Given the description of an element on the screen output the (x, y) to click on. 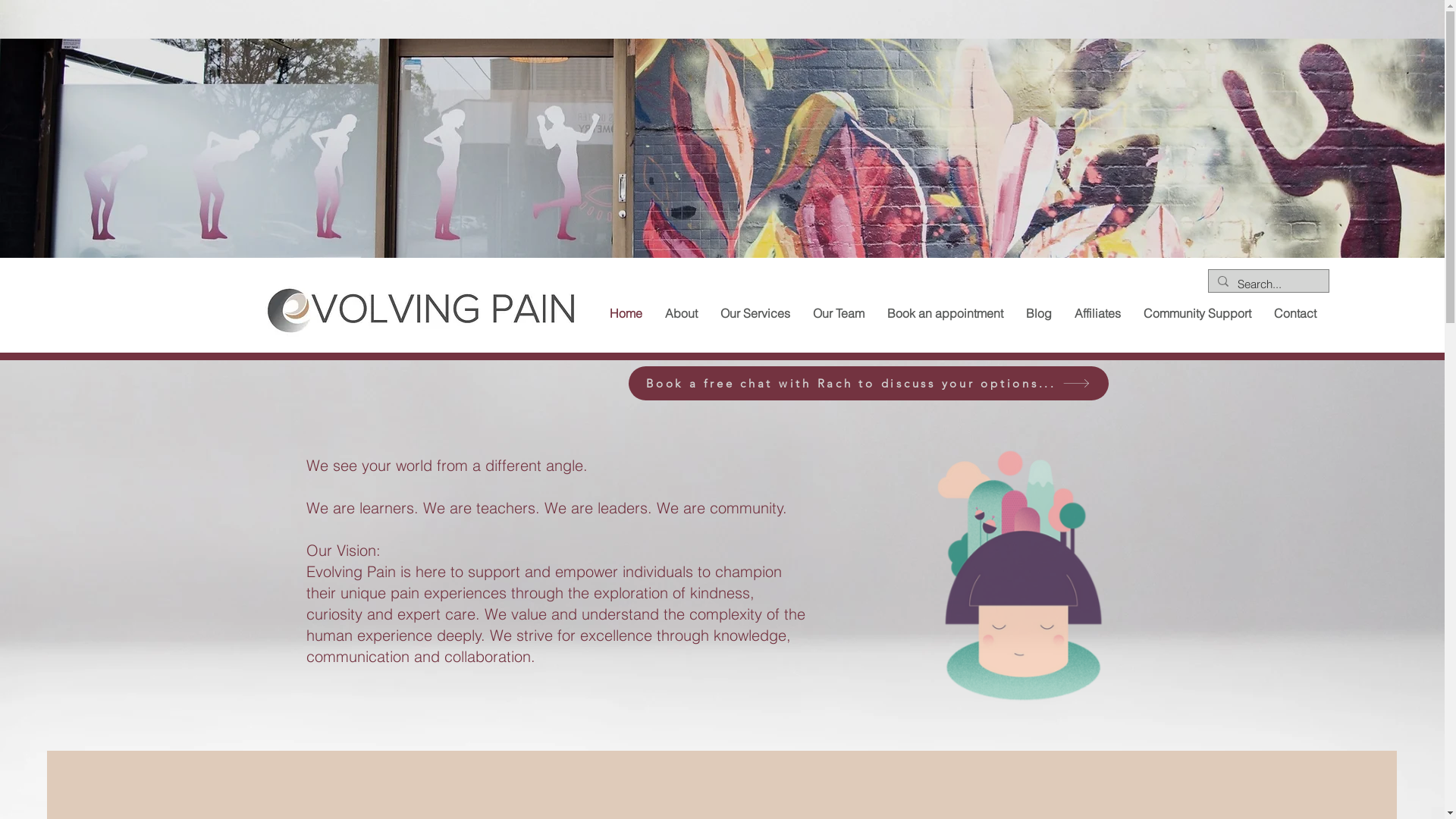
Affiliates Element type: text (1097, 313)
Book a free chat with Rach to discuss your options... Element type: text (867, 383)
Our Team Element type: text (837, 313)
Contact Element type: text (1294, 313)
About Element type: text (681, 313)
Home Element type: text (624, 313)
Book an appointment Element type: text (944, 313)
Our Services Element type: text (754, 313)
Community Support Element type: text (1196, 313)
Blog Element type: text (1038, 313)
